Given the description of an element on the screen output the (x, y) to click on. 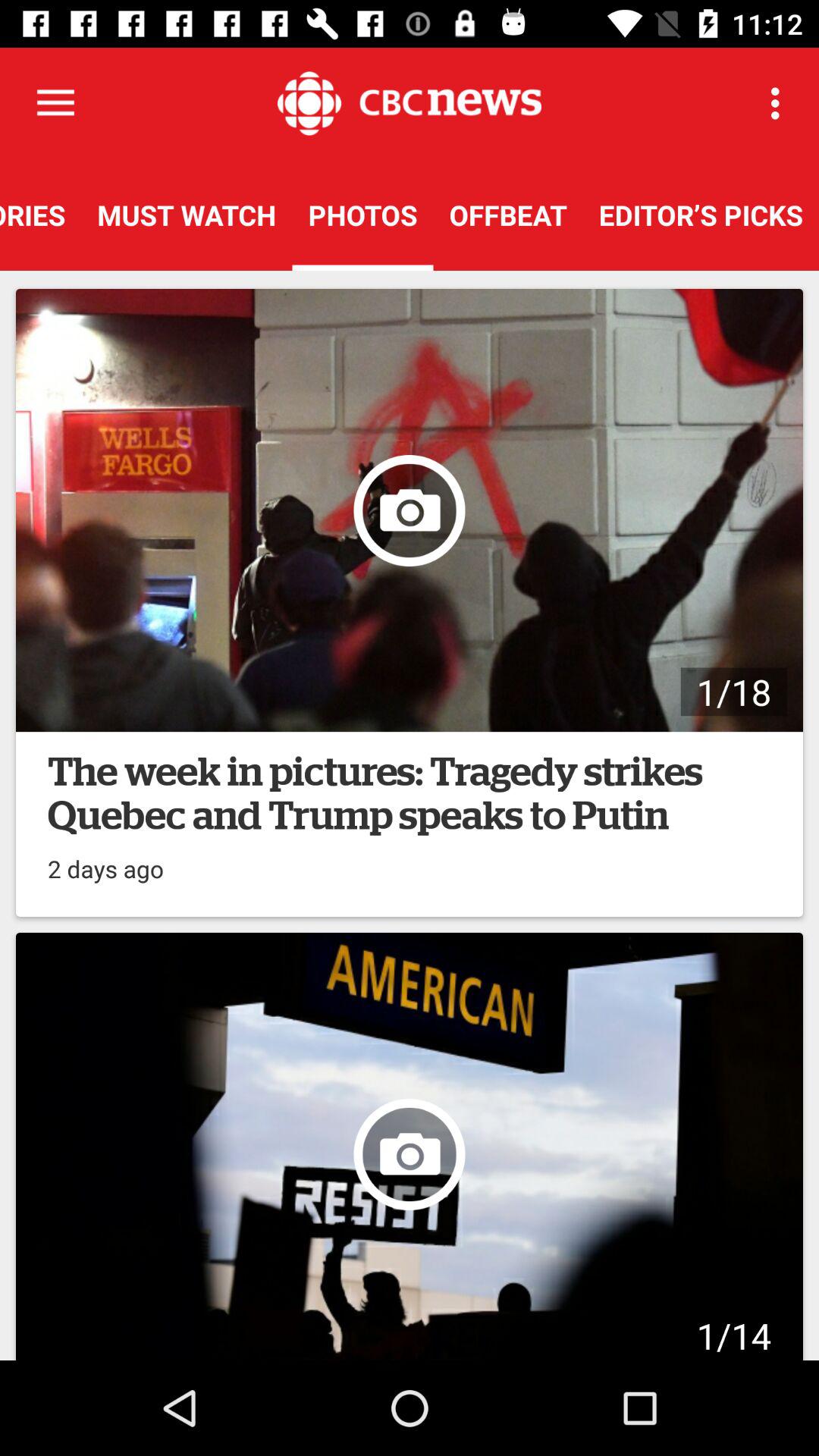
select the item next to must watch (40, 214)
